Given the description of an element on the screen output the (x, y) to click on. 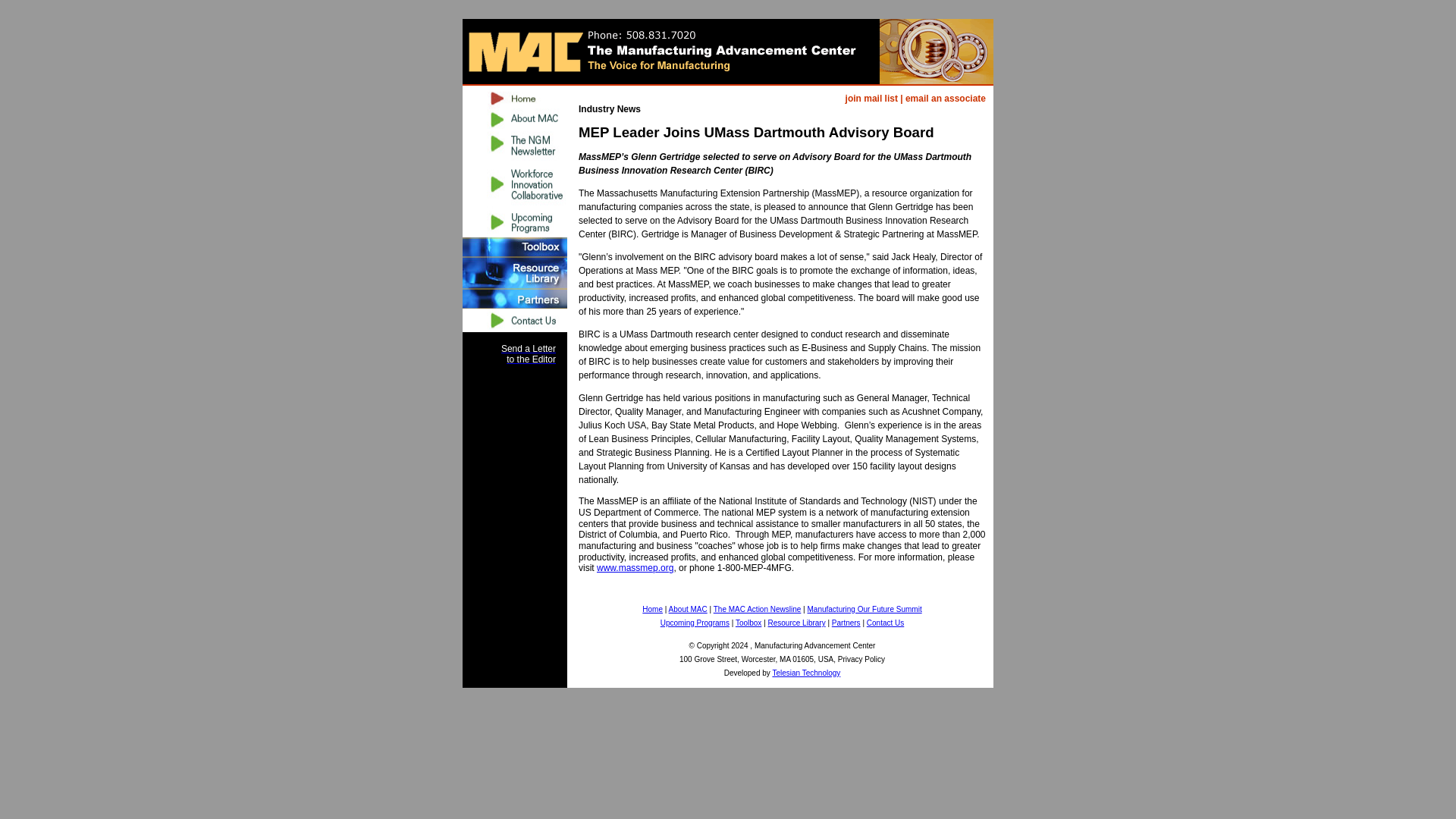
About MAC (515, 119)
join mail list (871, 98)
Contact Us (885, 622)
Partners (845, 622)
Join Mail List (871, 98)
Upcoming Programs (695, 622)
Resource Library (796, 622)
The MAC Action Newsline (757, 608)
About MAC (687, 608)
Manufacturing Our Future Summit (863, 608)
Toolbox (748, 622)
Home (652, 608)
Partners (845, 622)
Contact Us (515, 320)
Privacy Policy (861, 658)
